Given the description of an element on the screen output the (x, y) to click on. 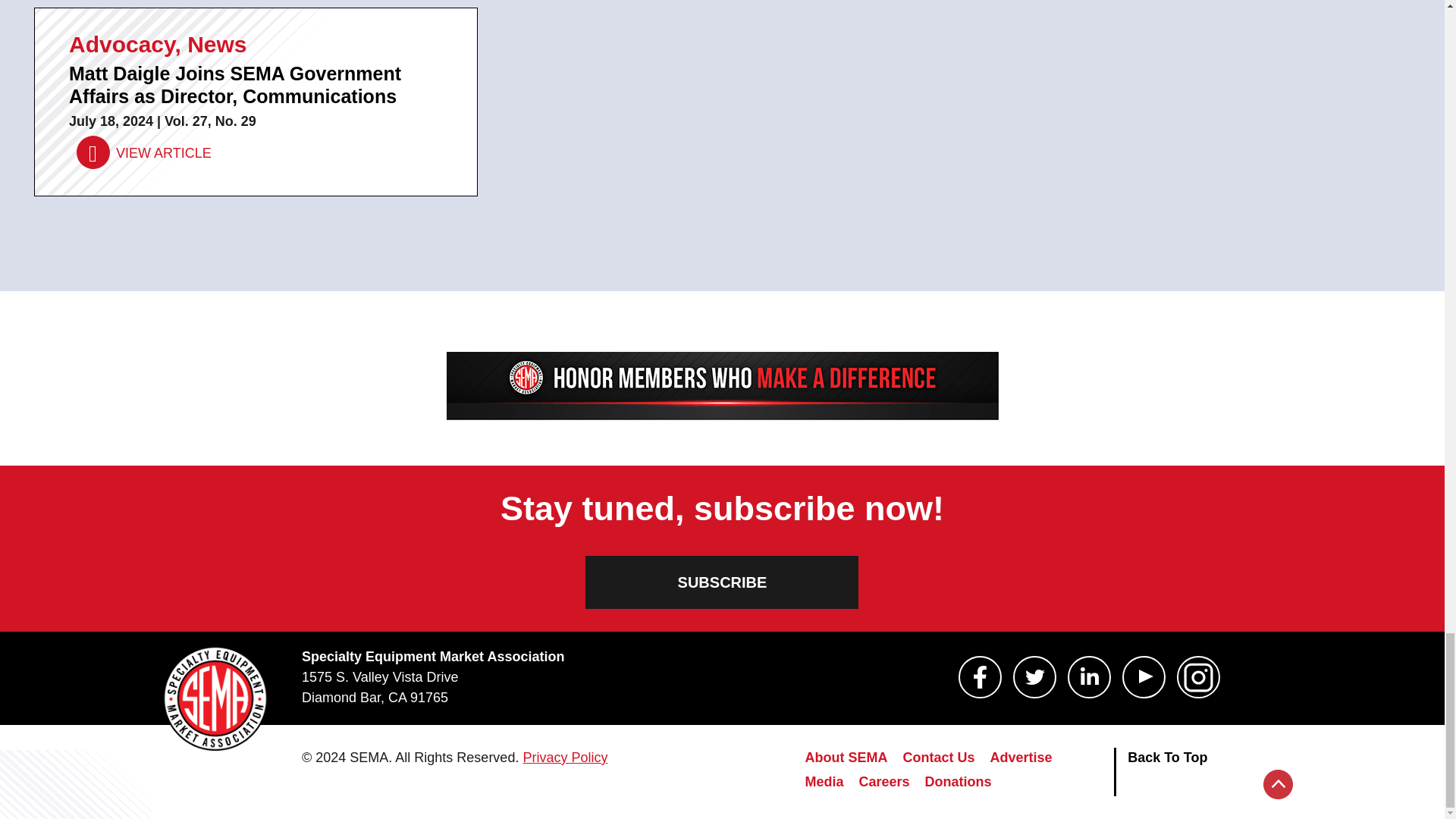
SEMA YouTube Link (1144, 677)
SEMA LinkedIn Link (1088, 677)
SEMA Facebook Link (979, 677)
SEMA Instagram Link (1198, 677)
Privacy Policy (564, 757)
SEMA Twitter Link (1035, 677)
